Given the description of an element on the screen output the (x, y) to click on. 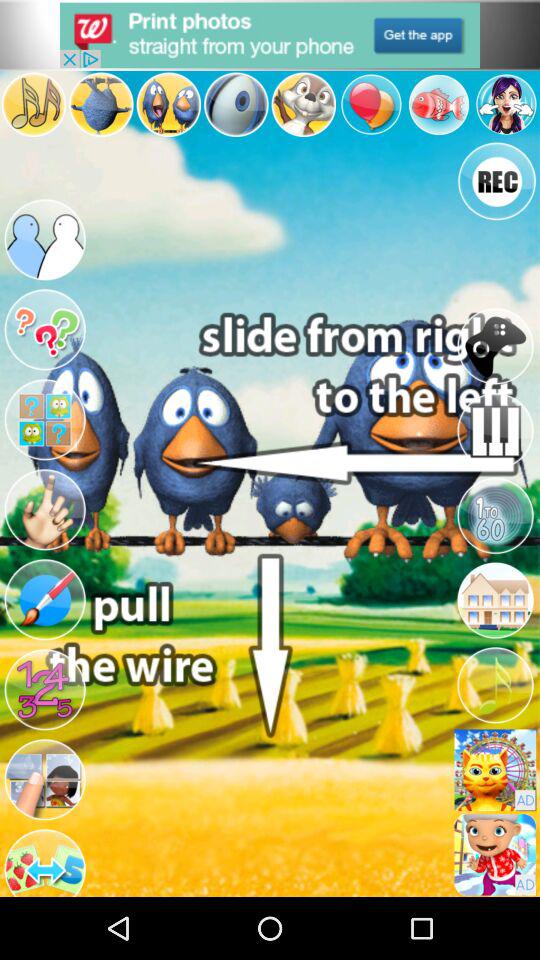
open matching game (45, 420)
